Given the description of an element on the screen output the (x, y) to click on. 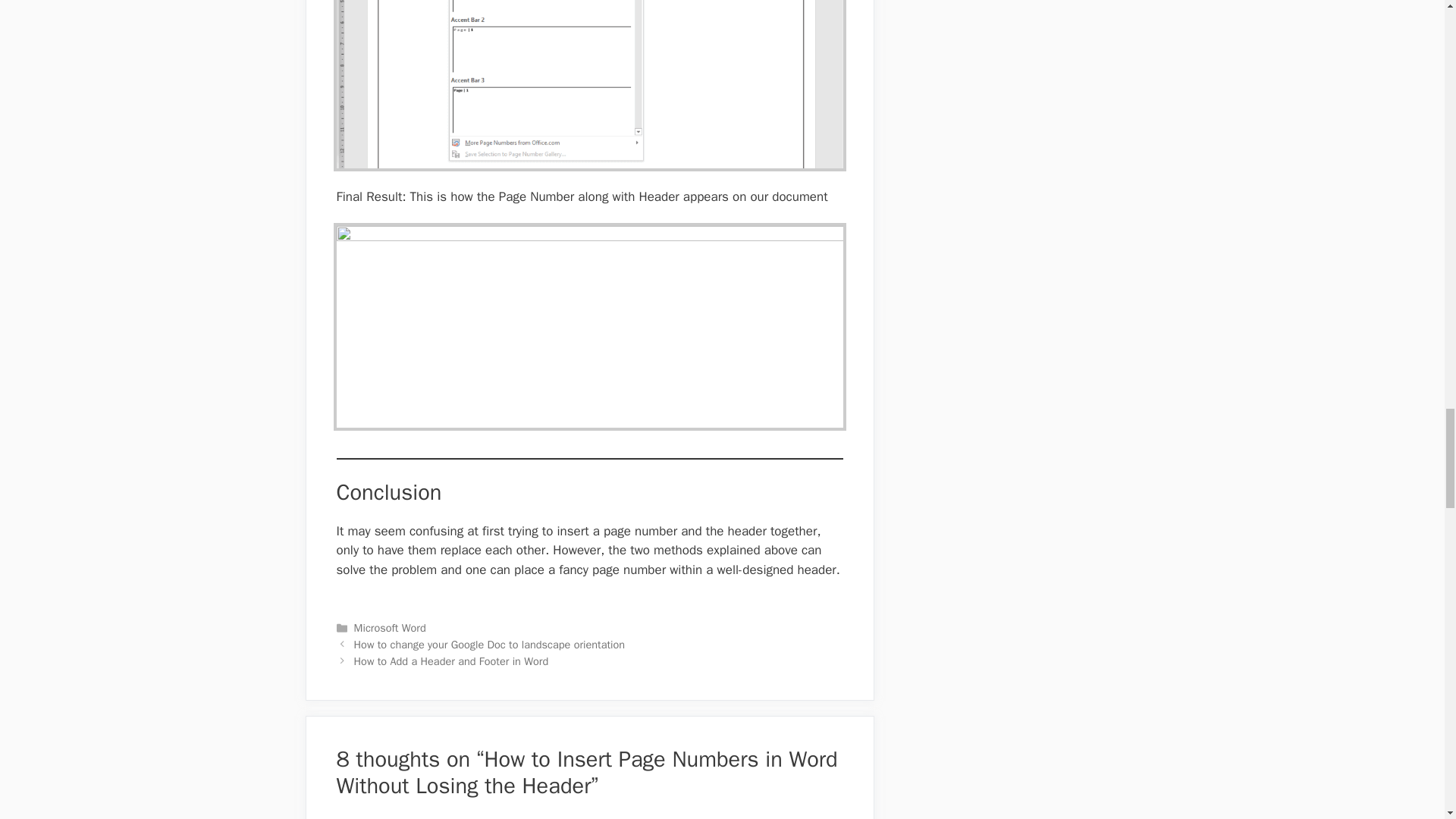
Microsoft Word (389, 627)
How to Add a Header and Footer in Word (450, 661)
How to change your Google Doc to landscape orientation (489, 644)
